Given the description of an element on the screen output the (x, y) to click on. 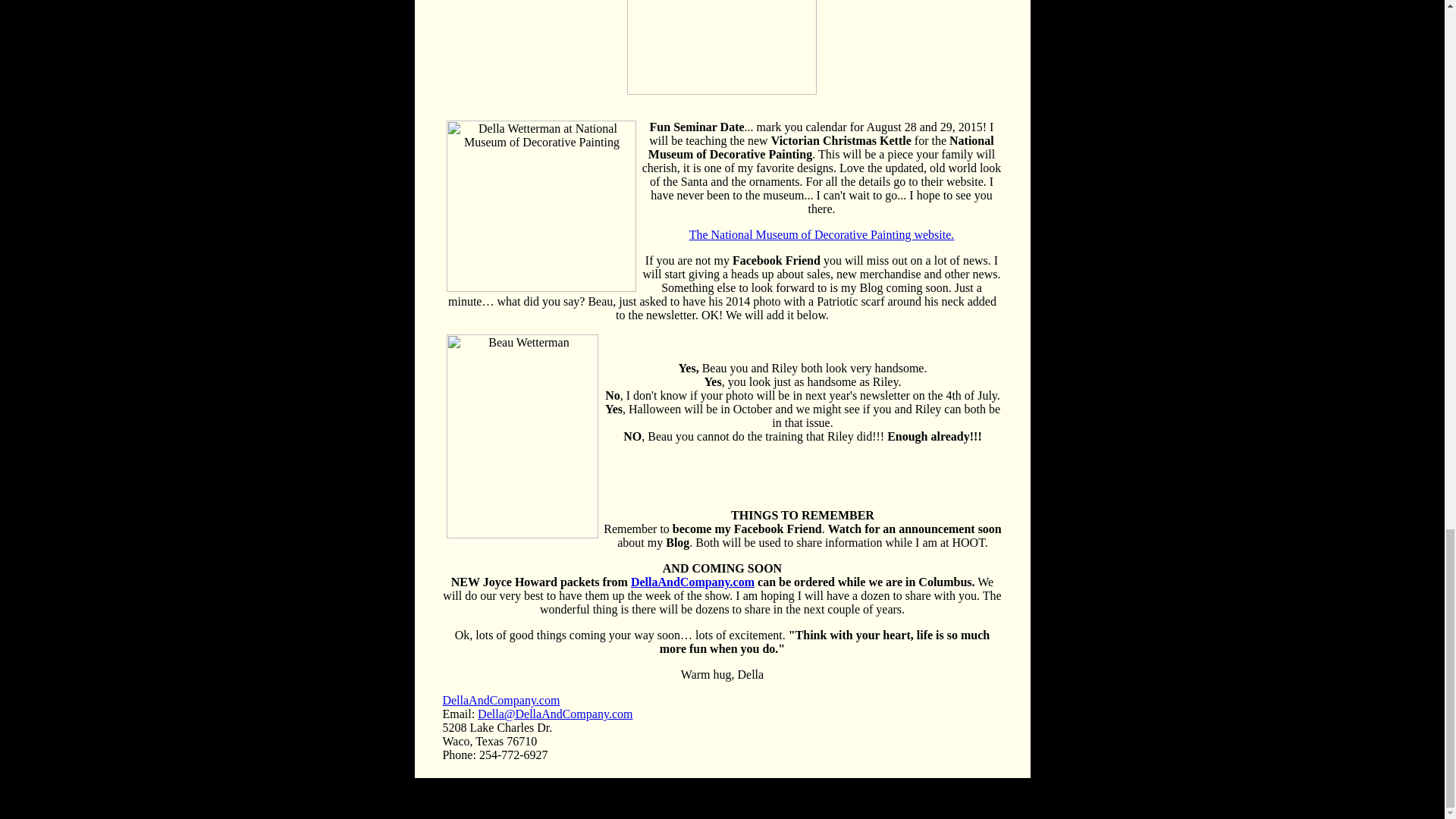
DellaAndCompany.com (500, 699)
The National Museum of Decorative Painting website. (821, 234)
DellaAndCompany.com (692, 581)
